Given the description of an element on the screen output the (x, y) to click on. 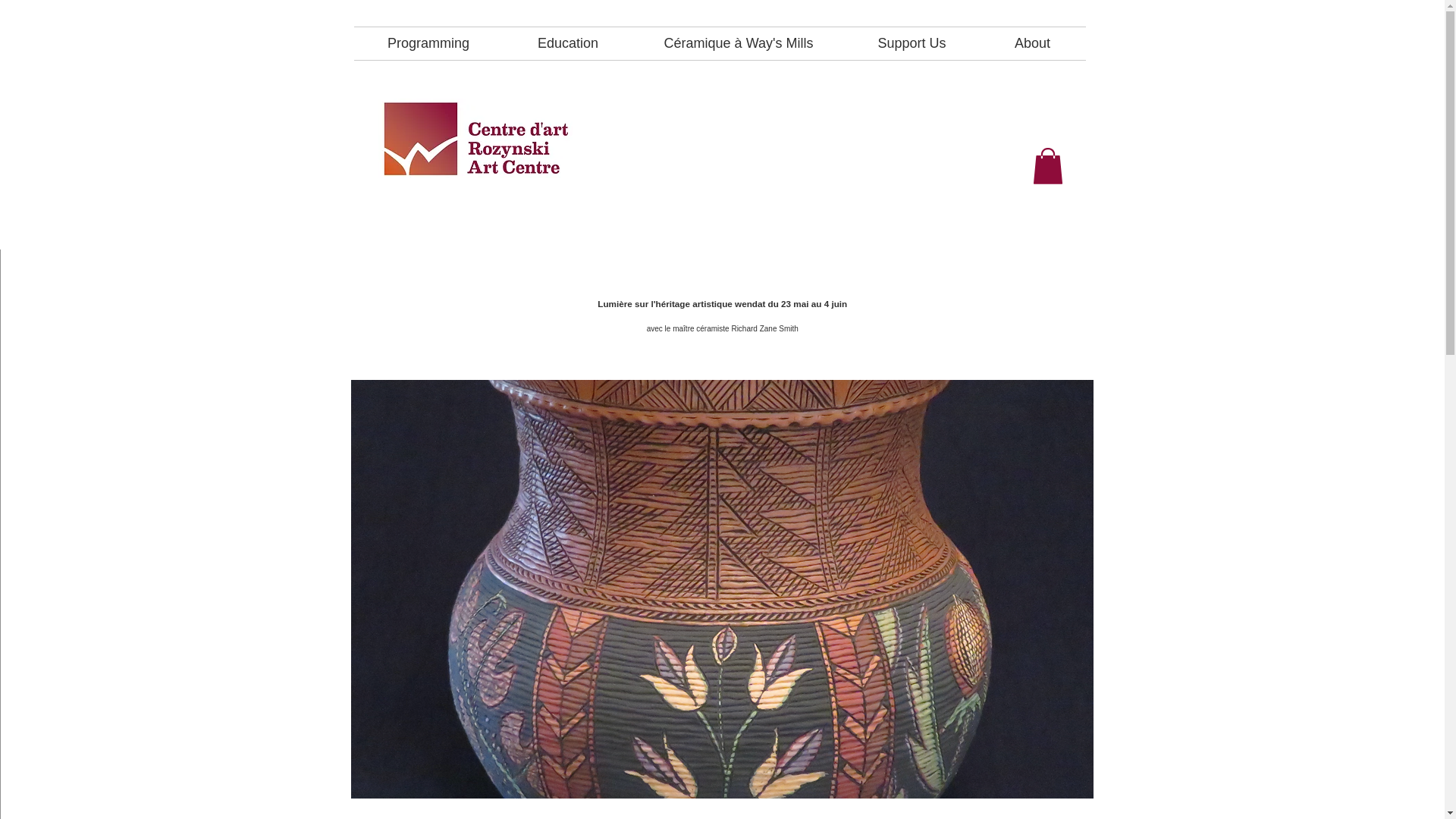
About (1032, 43)
Programming (427, 43)
Education (568, 43)
Support Us (911, 43)
